Given the description of an element on the screen output the (x, y) to click on. 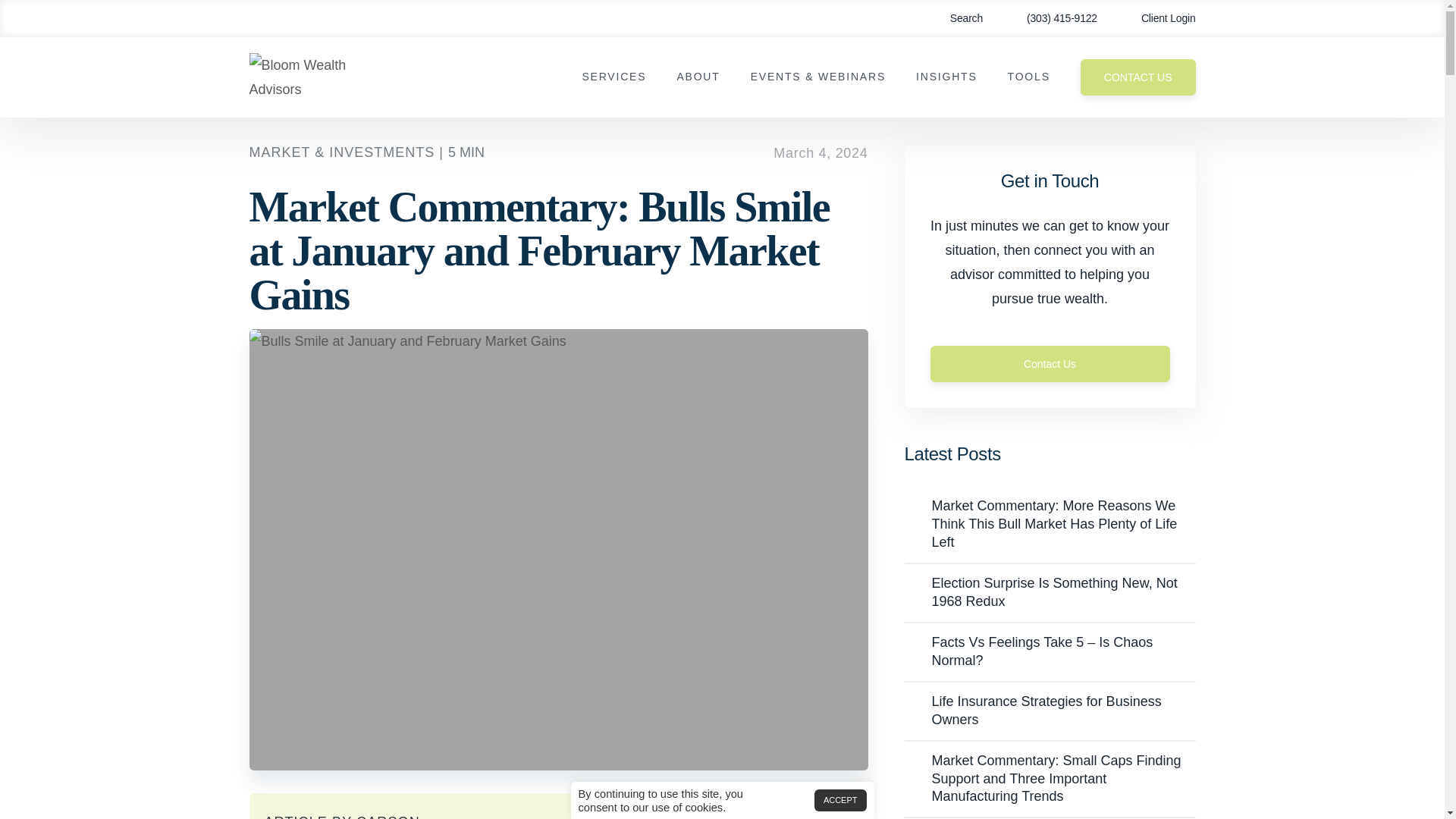
CONTACT US (1137, 76)
SERVICES (613, 77)
Client Login (1157, 18)
Search (955, 18)
TOOLS (1028, 77)
INSIGHTS (945, 77)
ABOUT (698, 77)
